Given the description of an element on the screen output the (x, y) to click on. 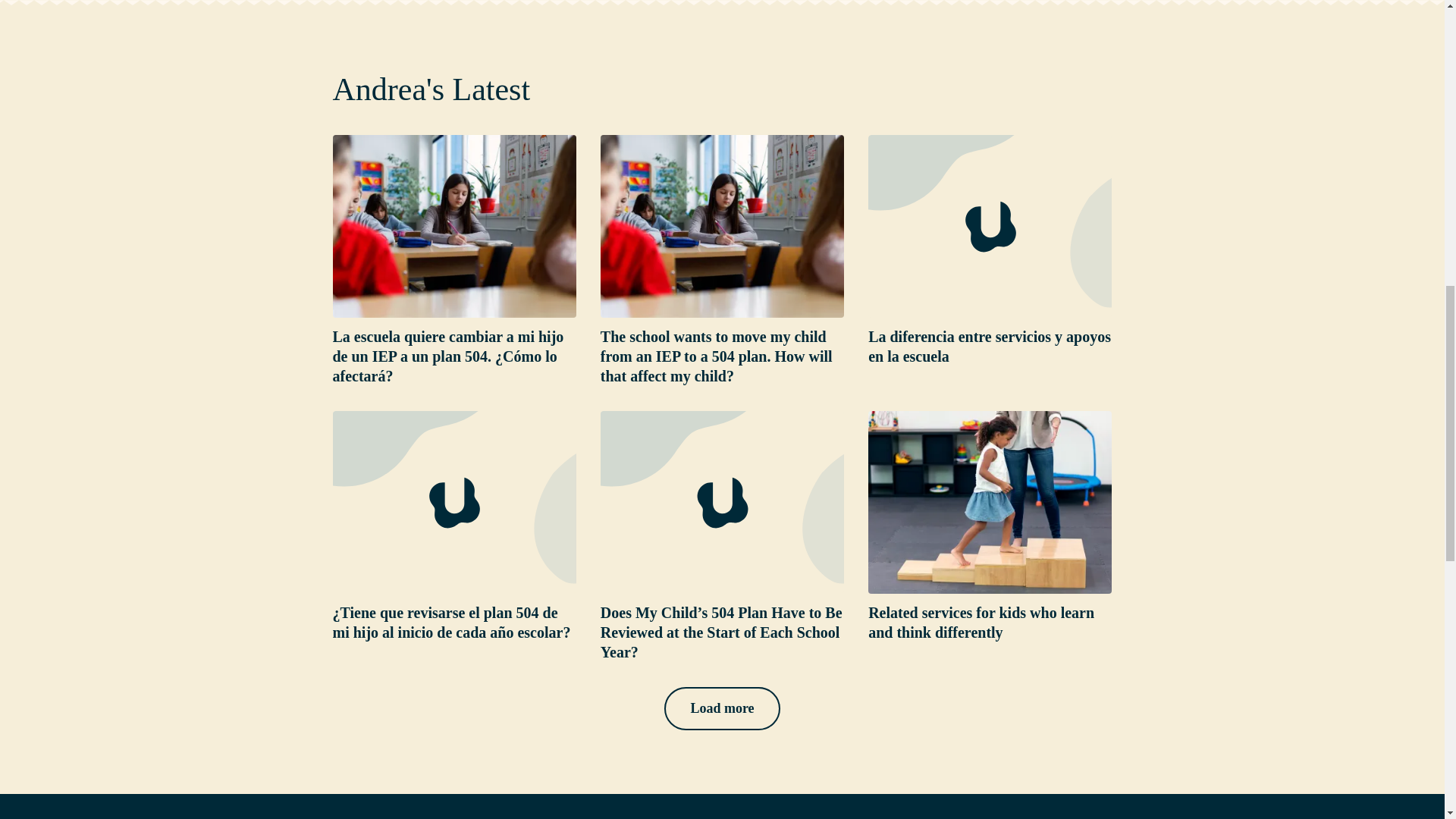
Load more (720, 708)
Related services for kids who learn and think differently (980, 622)
La diferencia entre servicios y apoyos en la escuela (988, 346)
